Given the description of an element on the screen output the (x, y) to click on. 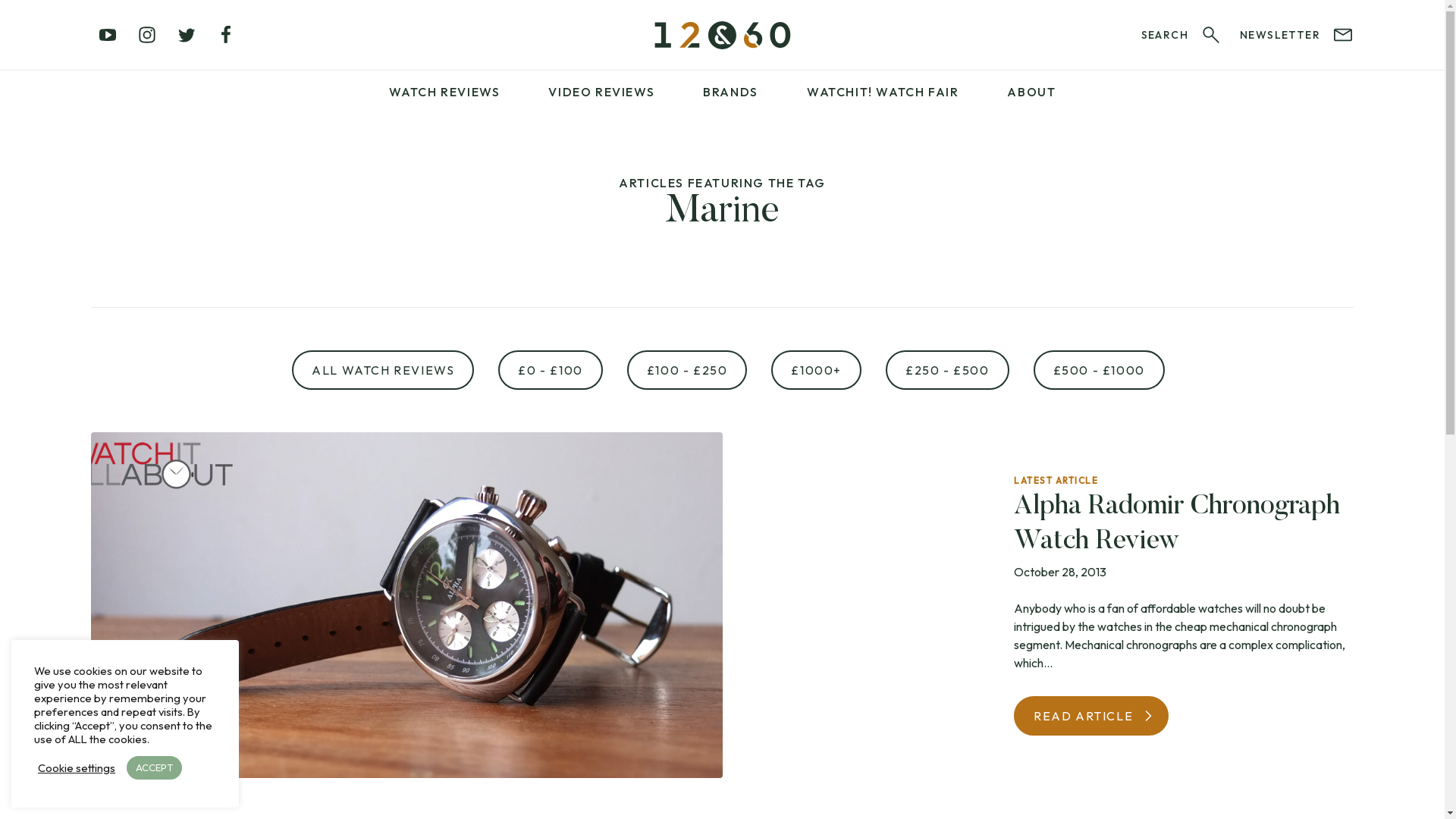
WATCHIT! WATCH FAIR Element type: text (882, 91)
VIDEO REVIEWS Element type: text (601, 91)
BRANDS Element type: text (730, 91)
12&60 on YouTube Element type: hover (107, 34)
Cookie settings Element type: text (76, 768)
SEARCH Element type: text (1181, 34)
WATCH REVIEWS Element type: text (444, 91)
12&60 on Instagram Element type: hover (146, 34)
ABOUT Element type: text (1030, 91)
12&60 on Twitter Element type: hover (186, 34)
Alpha Radomir Chronograph Watch Review Element type: text (1176, 524)
NEWSLETTER Element type: text (1296, 34)
12&60 on Facebook Element type: hover (225, 34)
ACCEPT Element type: text (154, 767)
ALL WATCH REVIEWS Element type: text (382, 369)
READ ARTICLE Element type: text (1090, 715)
12&60 Element type: hover (721, 35)
